Given the description of an element on the screen output the (x, y) to click on. 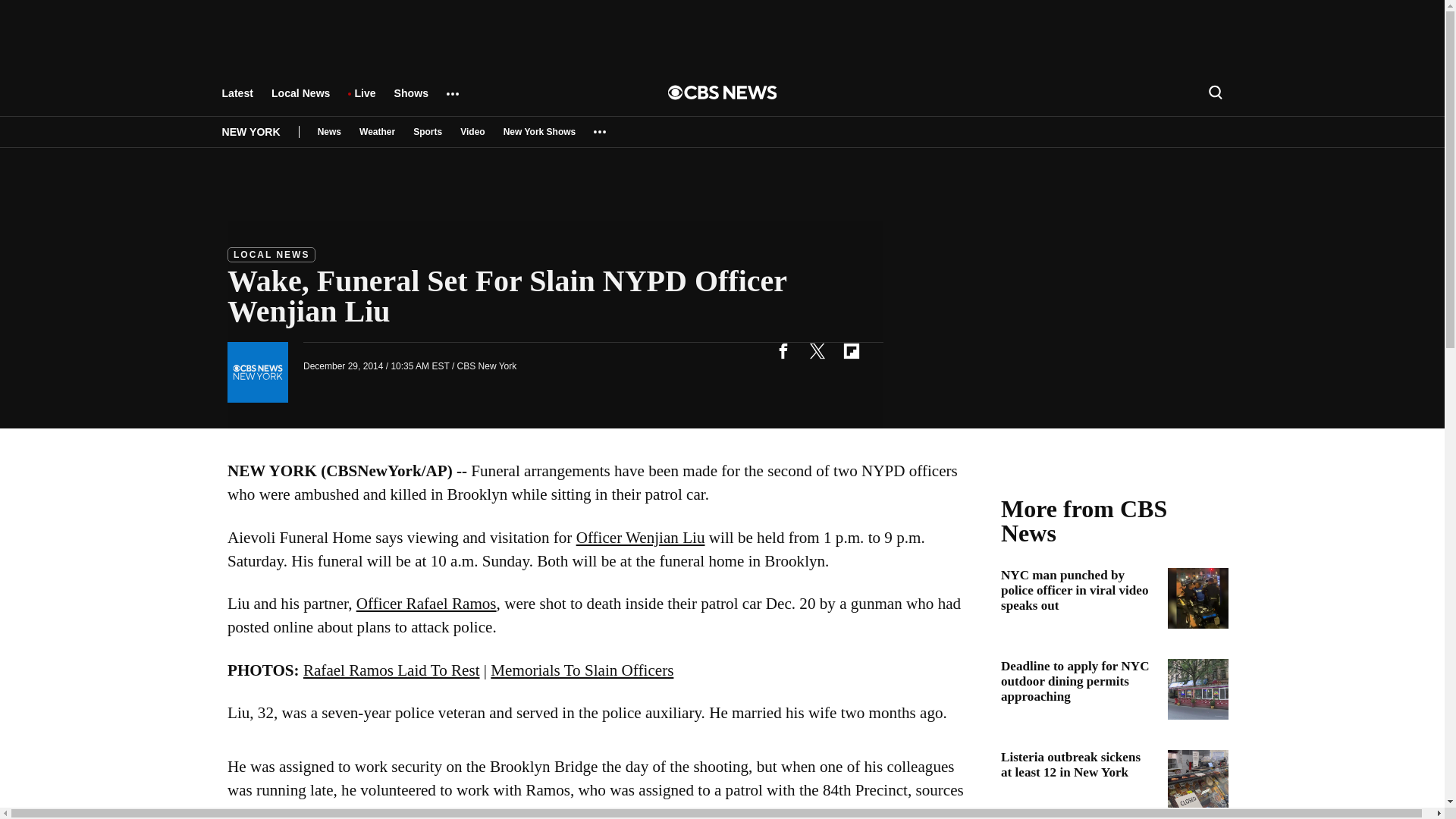
Thousands Attend Funeral For Fallen Officer Rafael Ramos (426, 603)
Latest (236, 100)
Local News (300, 100)
Live (364, 100)
twitter (816, 350)
flipboard (850, 350)
facebook (782, 350)
